Given the description of an element on the screen output the (x, y) to click on. 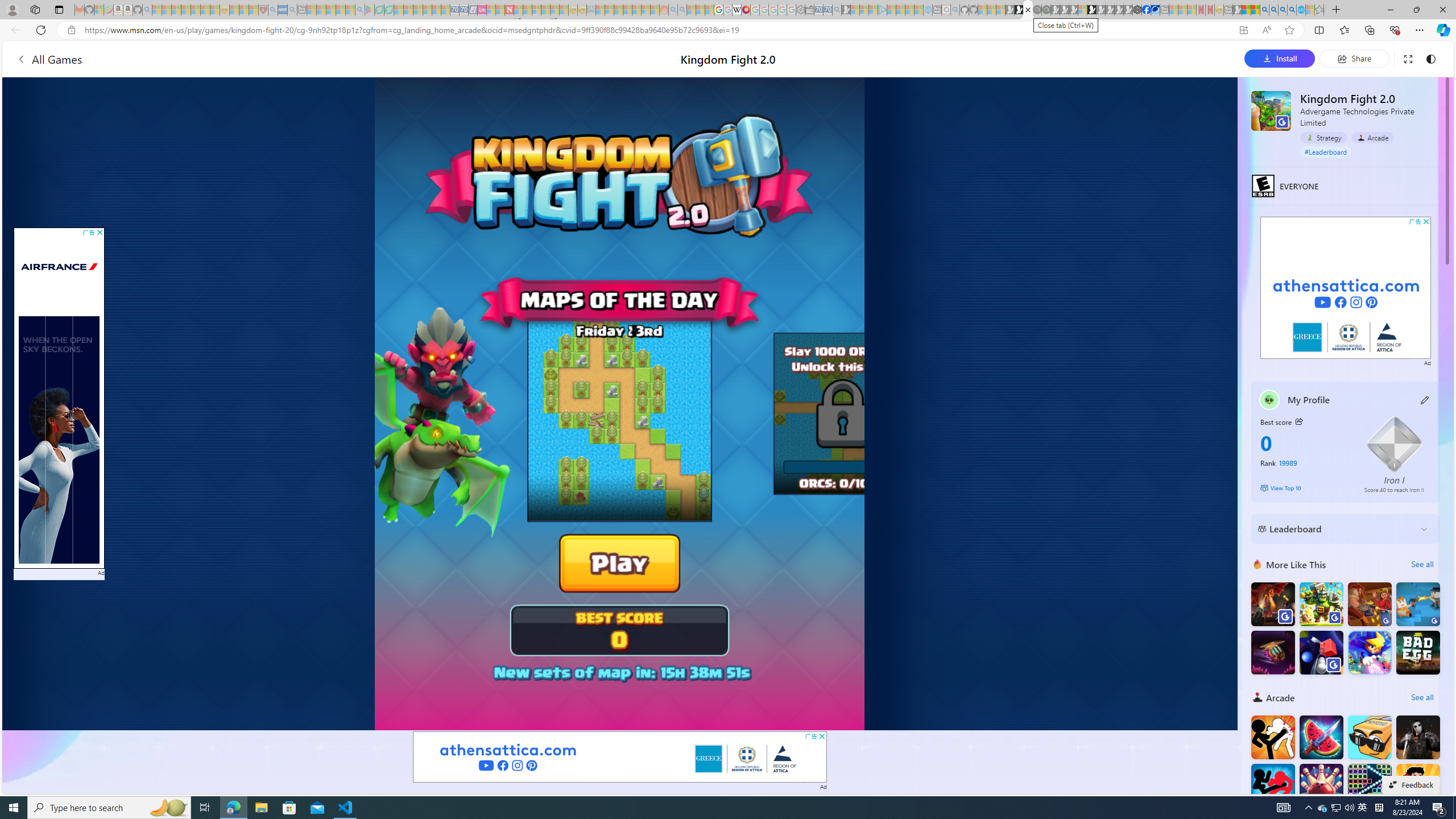
Class: button edit-icon (1425, 399)
Hunter Hitman (1417, 737)
Nordace - Cooler Bags (1137, 9)
MSNBC - MSN - Sleeping (600, 9)
MSN - Sleeping (1236, 9)
Bad Egg (1417, 652)
